Given the description of an element on the screen output the (x, y) to click on. 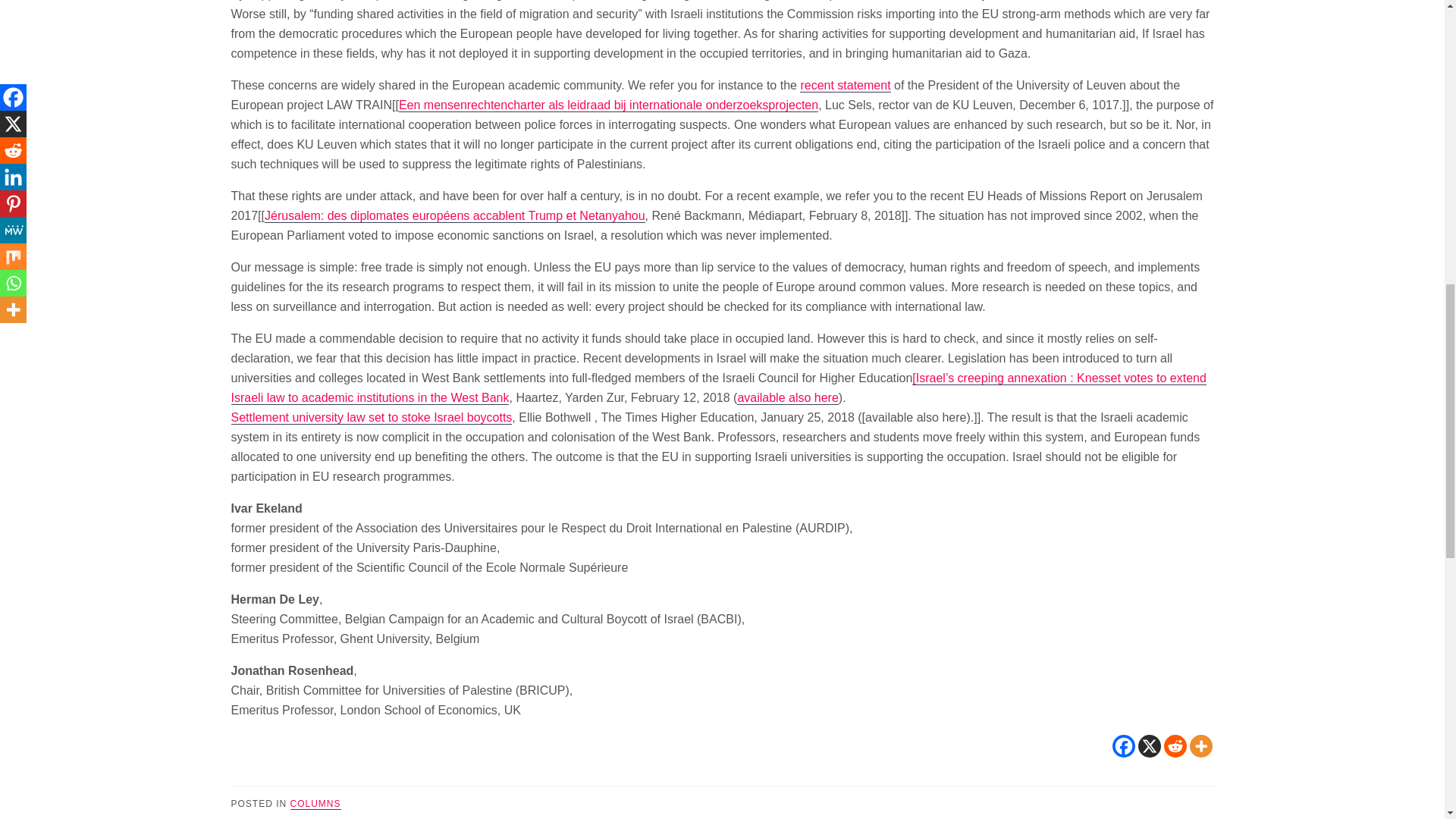
recent statement (844, 85)
Facebook (1123, 745)
available also here (787, 397)
